Given the description of an element on the screen output the (x, y) to click on. 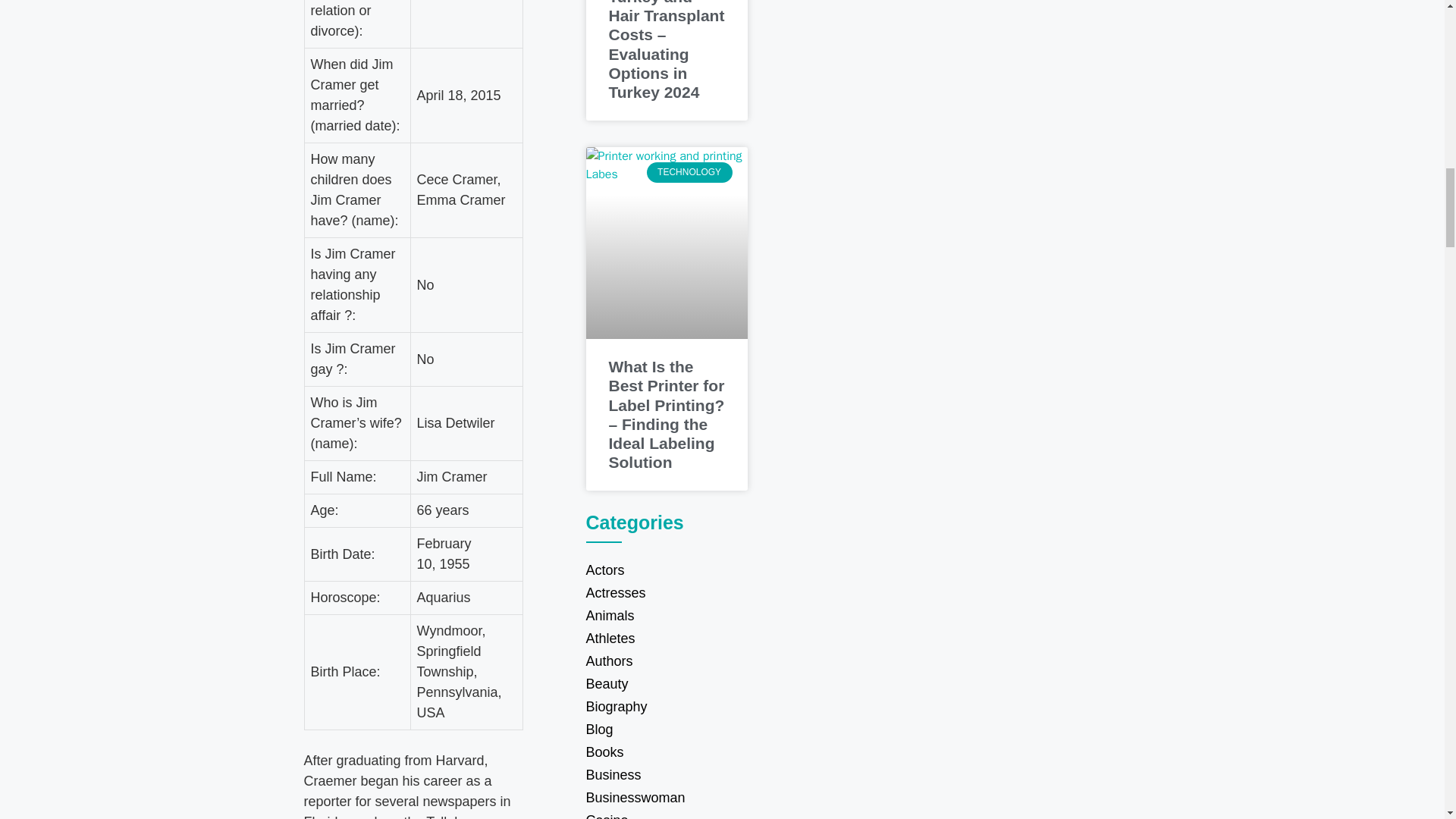
Biography (665, 706)
Animals (665, 615)
Blog (665, 729)
Businesswoman (665, 797)
Beauty (665, 683)
Business (665, 774)
Actors (665, 569)
Actresses (665, 592)
Books (665, 752)
Authors (665, 661)
Athletes (665, 638)
